Given the description of an element on the screen output the (x, y) to click on. 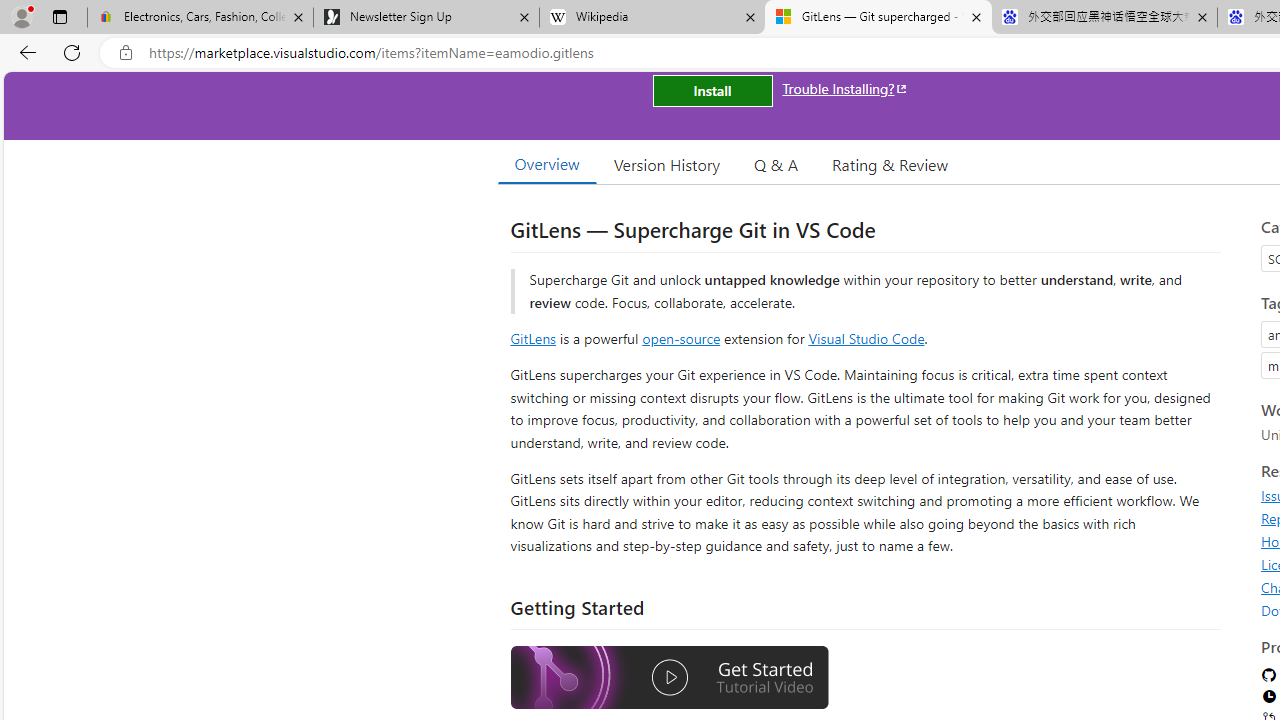
Visual Studio Code (866, 337)
open-source (681, 337)
